Given the description of an element on the screen output the (x, y) to click on. 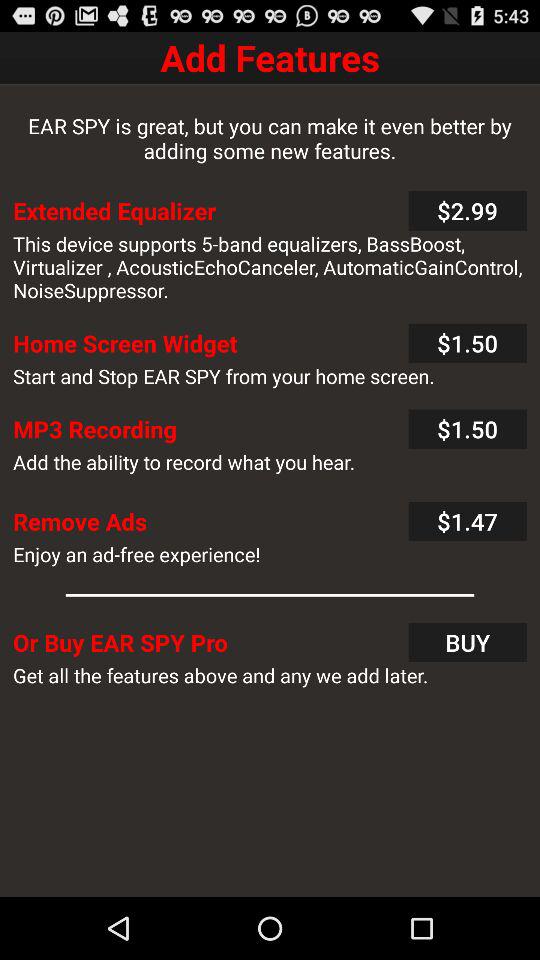
go to the text next to the or buy ear spy pro (467, 642)
click on the 299 button (467, 211)
